Given the description of an element on the screen output the (x, y) to click on. 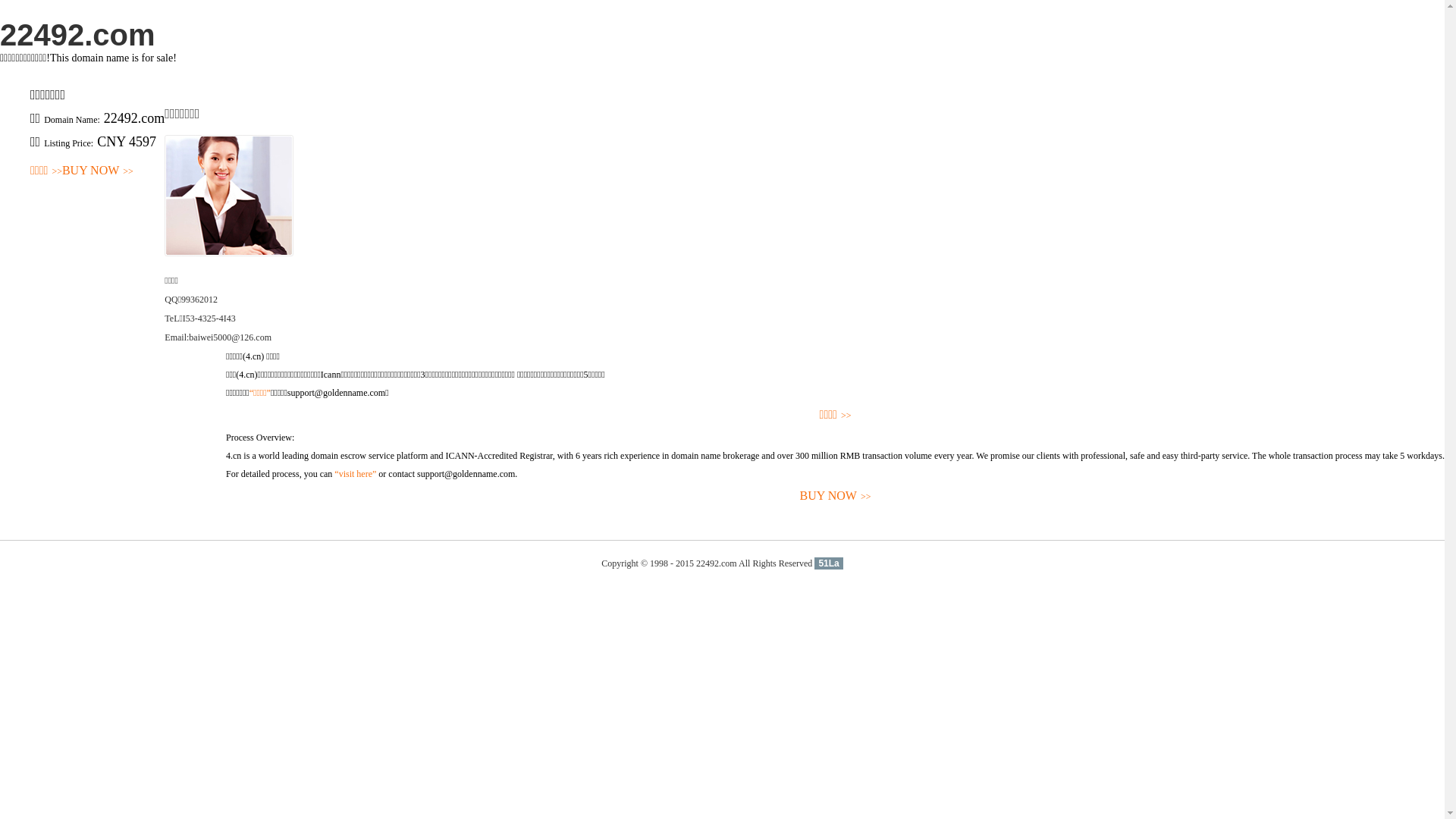
BUY NOW>> Element type: text (97, 170)
BUY NOW>> Element type: text (834, 496)
51La Element type: text (828, 563)
